Given the description of an element on the screen output the (x, y) to click on. 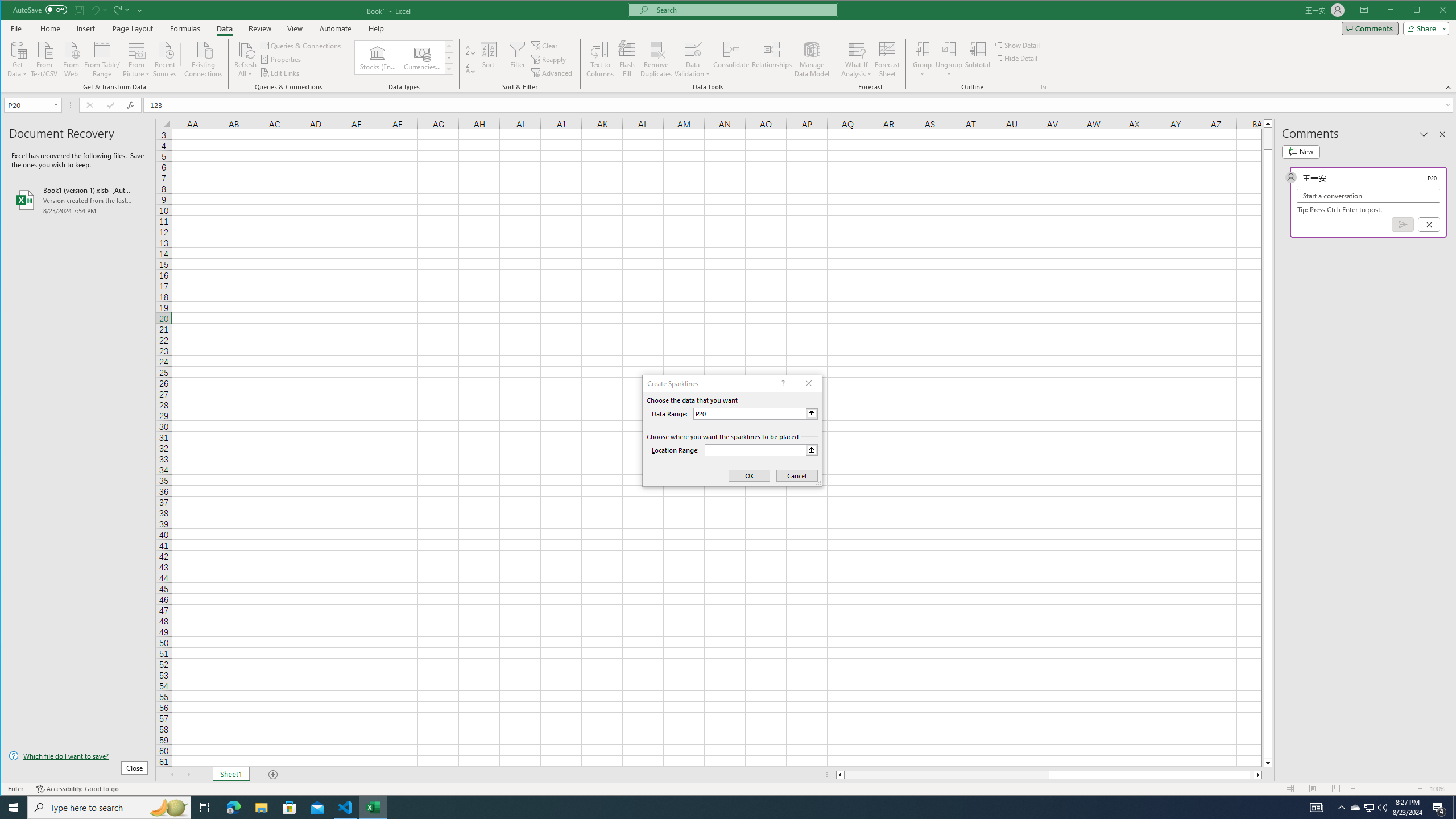
Sort... (488, 59)
Show Detail (1017, 44)
Clear (545, 45)
Consolidate... (731, 59)
